Given the description of an element on the screen output the (x, y) to click on. 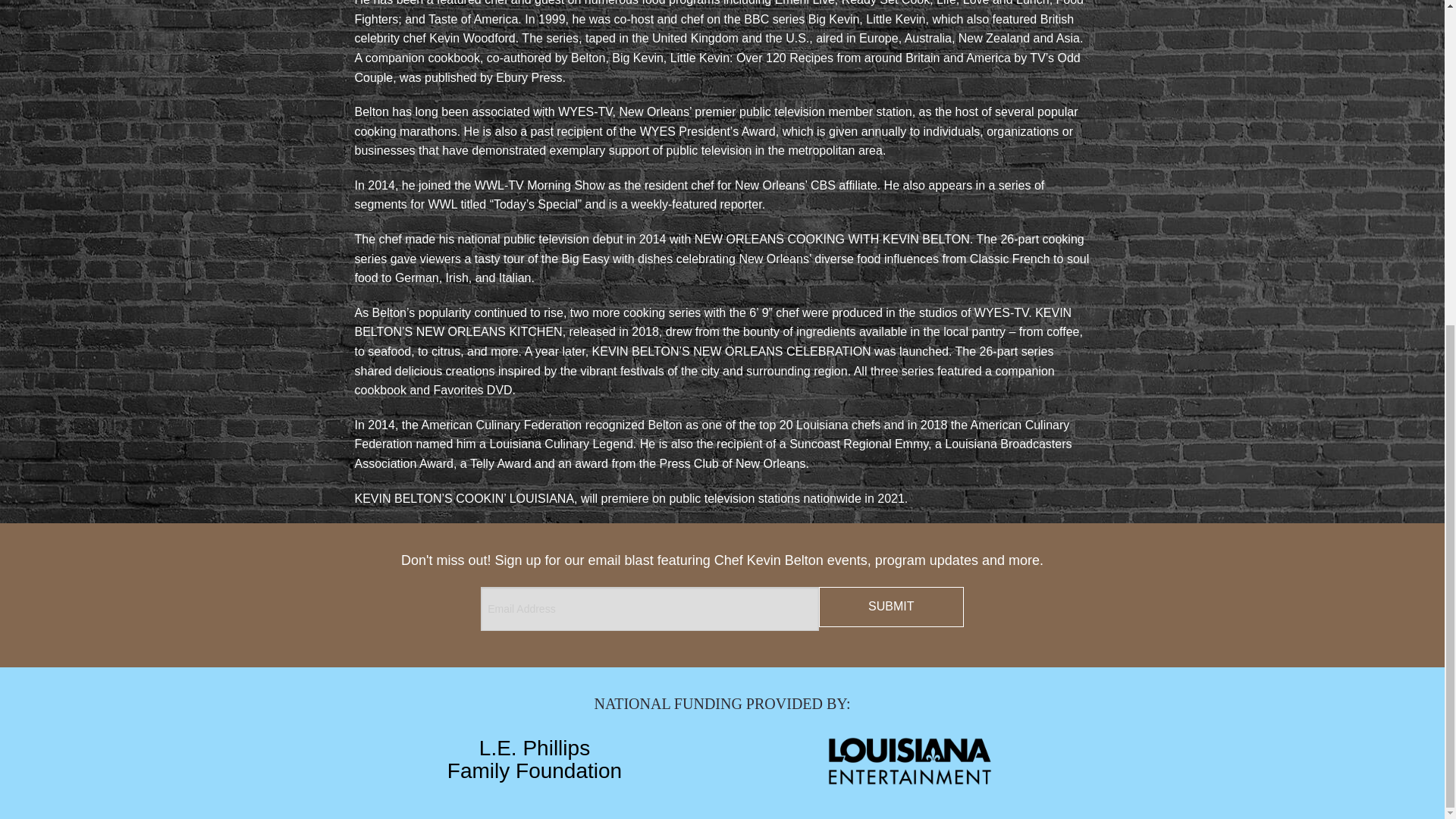
Submit (533, 759)
Submit (890, 607)
